Given the description of an element on the screen output the (x, y) to click on. 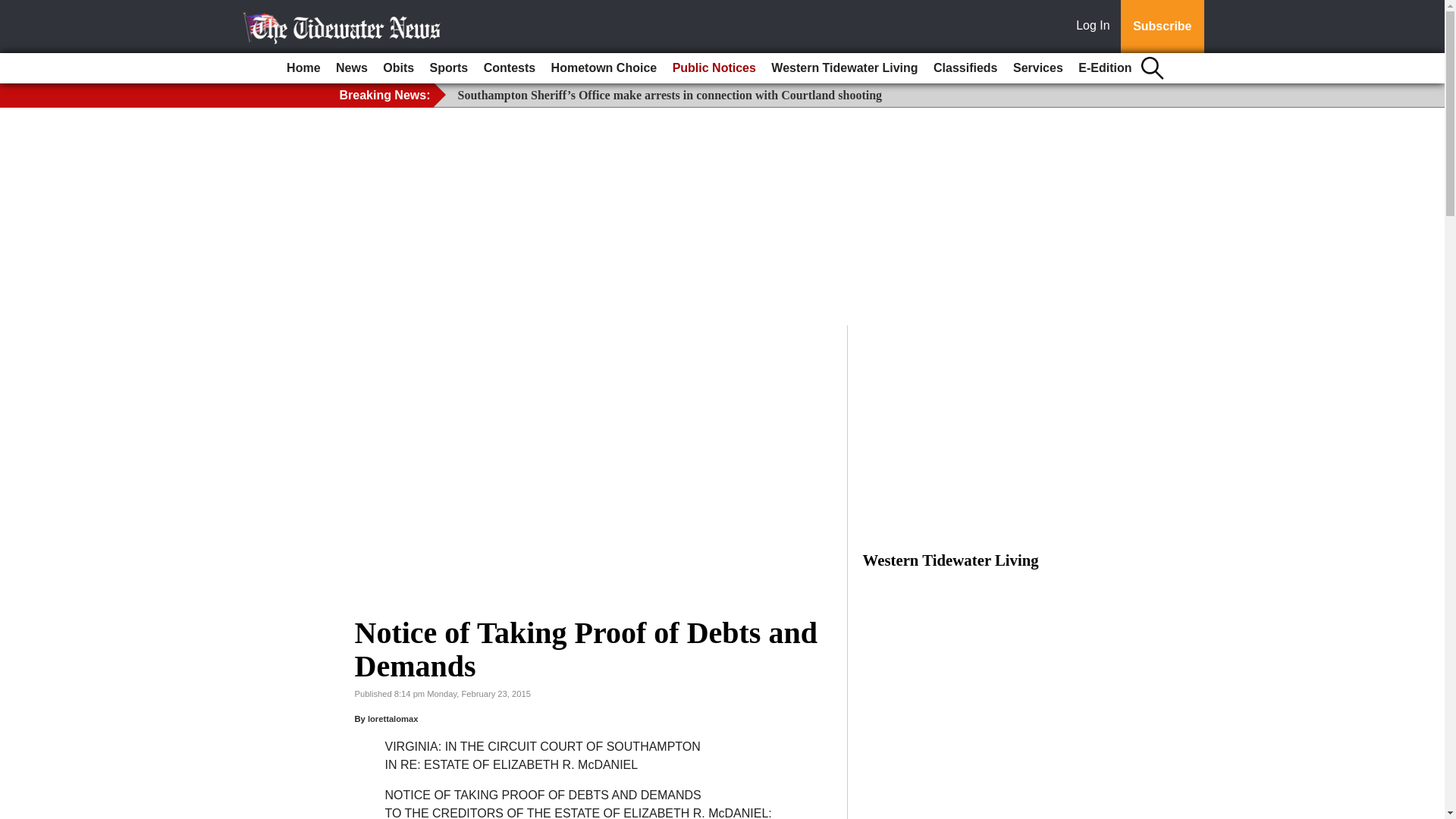
Classifieds (965, 68)
E-Edition (1104, 68)
Log In (1095, 26)
Obits (398, 68)
Hometown Choice (603, 68)
Go (13, 9)
Contests (509, 68)
Home (303, 68)
Western Tidewater Living (844, 68)
Subscribe (1162, 26)
Services (1037, 68)
Sports (448, 68)
Public Notices (713, 68)
News (352, 68)
lorettalomax (393, 718)
